Given the description of an element on the screen output the (x, y) to click on. 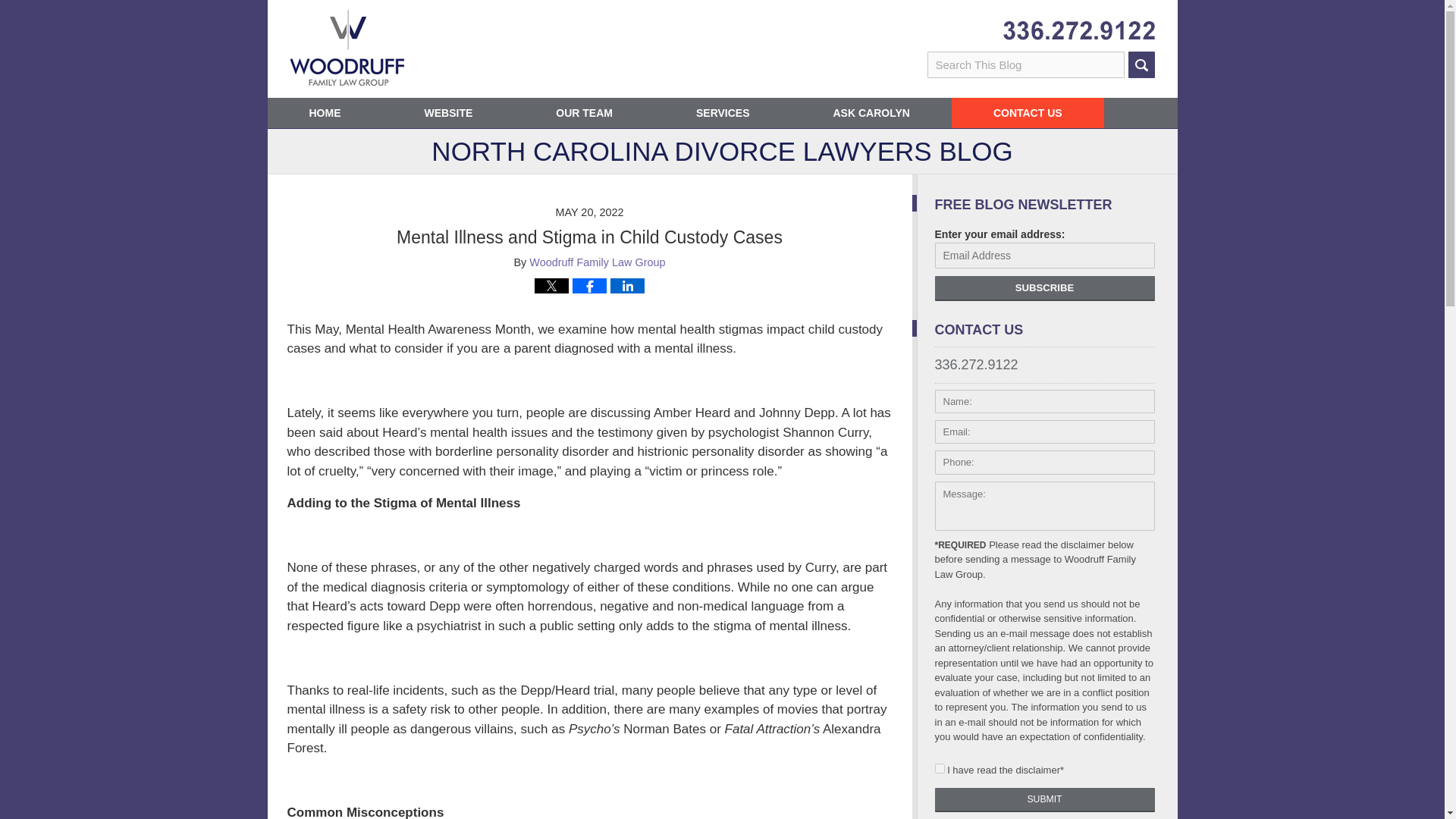
SUBSCRIBE (1044, 288)
SERVICES (722, 112)
SUBMIT (1044, 799)
North Carolina Divorce Lawyers Blog (346, 47)
SEARCH (1141, 64)
OUR TEAM (583, 112)
Please enter a valid phone number. (1044, 462)
NORTH CAROLINA DIVORCE LAWYERS BLOG (720, 156)
I have read the disclaimer (938, 768)
HOME (323, 112)
Woodruff Family Law Group (597, 262)
Published By Woodruff Family Law Group (1078, 30)
ASK CAROLYN (872, 112)
CONTACT US (1027, 112)
WEBSITE (447, 112)
